Given the description of an element on the screen output the (x, y) to click on. 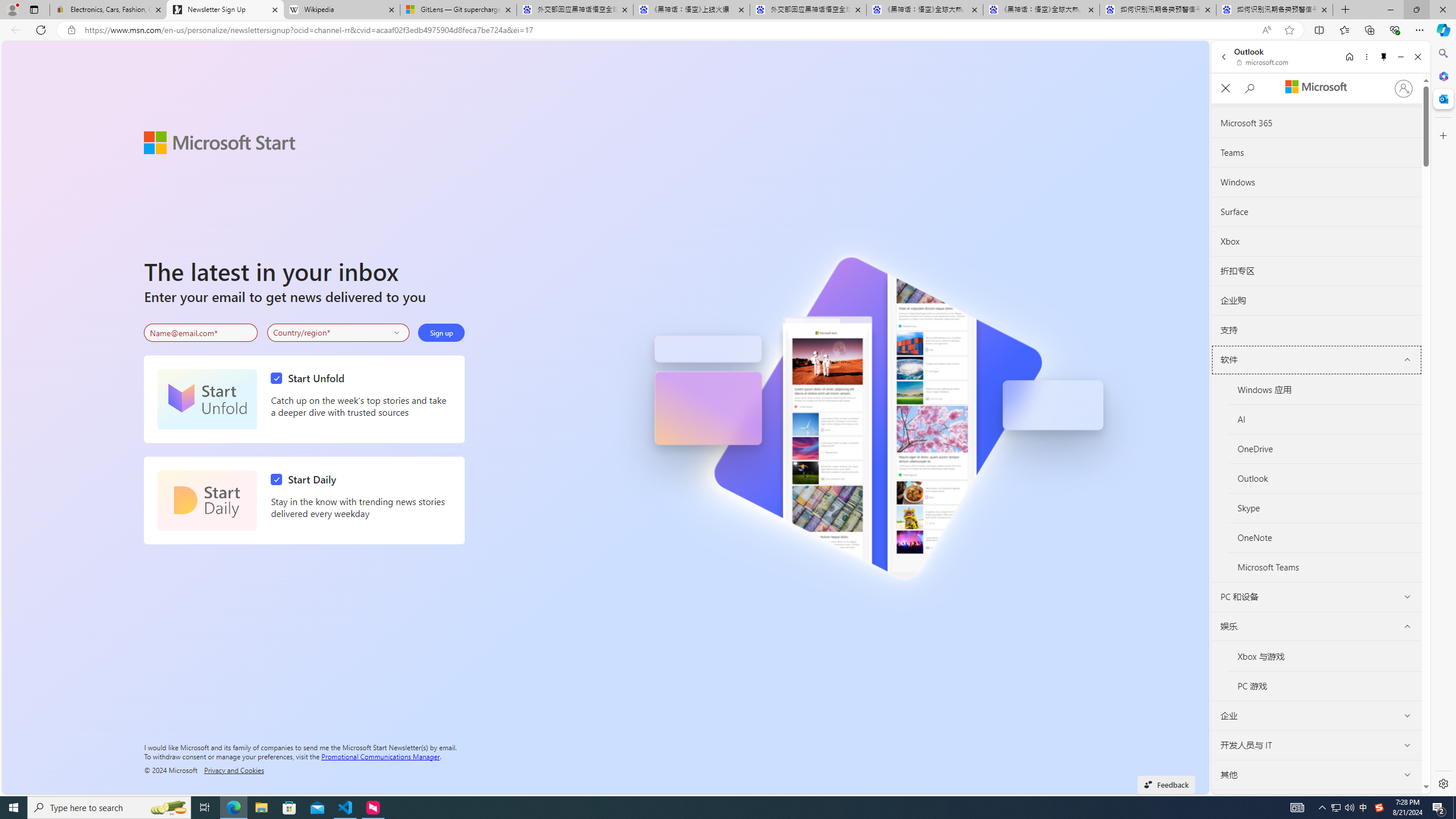
Wikipedia (341, 9)
Start Unfold (207, 399)
Close All Microsoft list (1225, 88)
Microsoft Teams (1324, 567)
Skype (1325, 508)
Surface (1316, 212)
Xbox (1316, 241)
Sign up (441, 332)
AI (1325, 419)
